Given the description of an element on the screen output the (x, y) to click on. 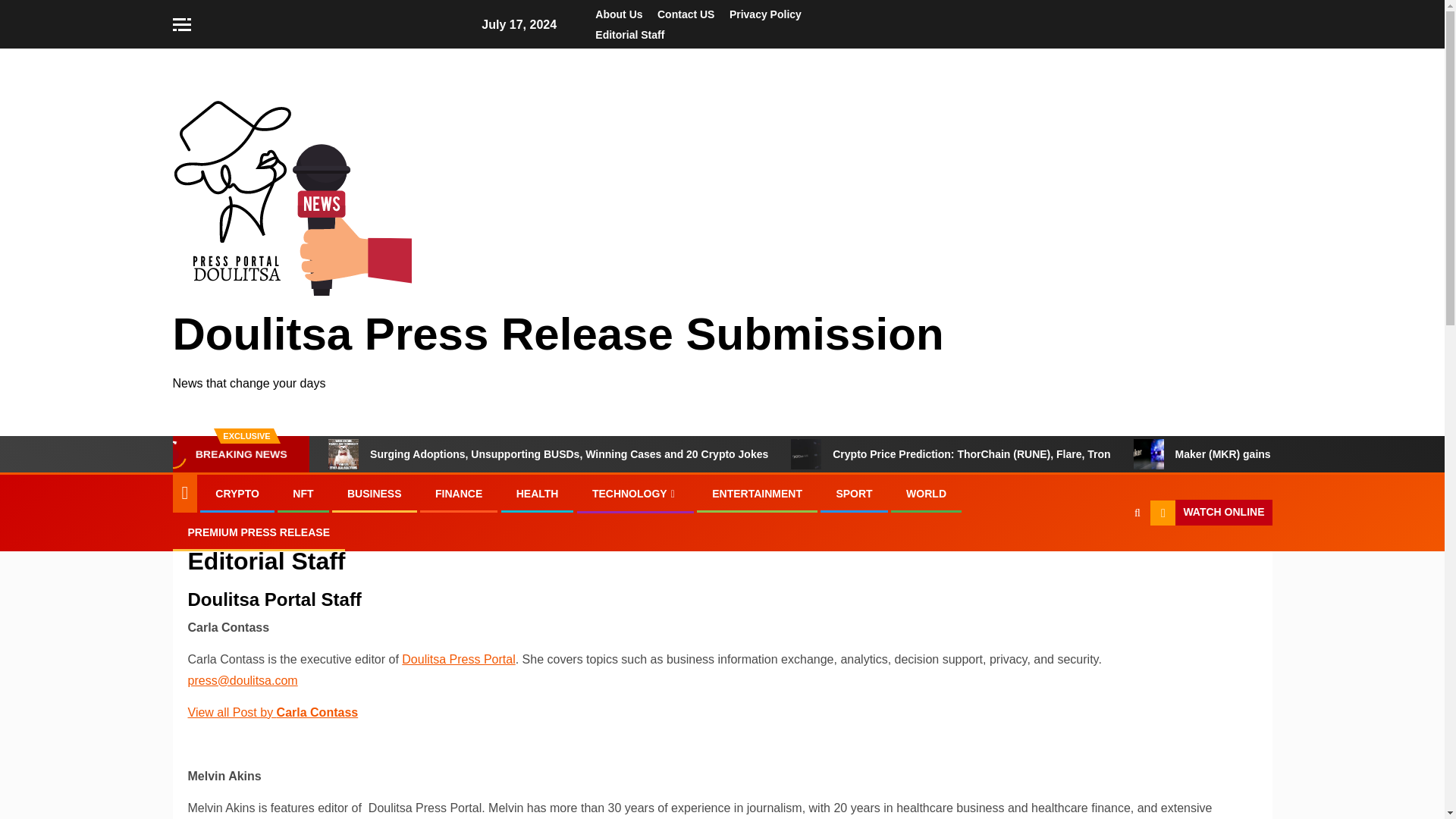
FINANCE (458, 493)
WATCH ONLINE (1210, 512)
WORLD (925, 493)
HEALTH (537, 493)
PREMIUM PRESS RELEASE (258, 532)
About Us (618, 14)
Contact US (686, 14)
Doulitsa Press Release Submission (558, 333)
NFT (302, 493)
TECHNOLOGY (635, 493)
BUSINESS (374, 493)
SPORT (853, 493)
Search (1107, 558)
Doulitsa Press Portal (458, 658)
